Given the description of an element on the screen output the (x, y) to click on. 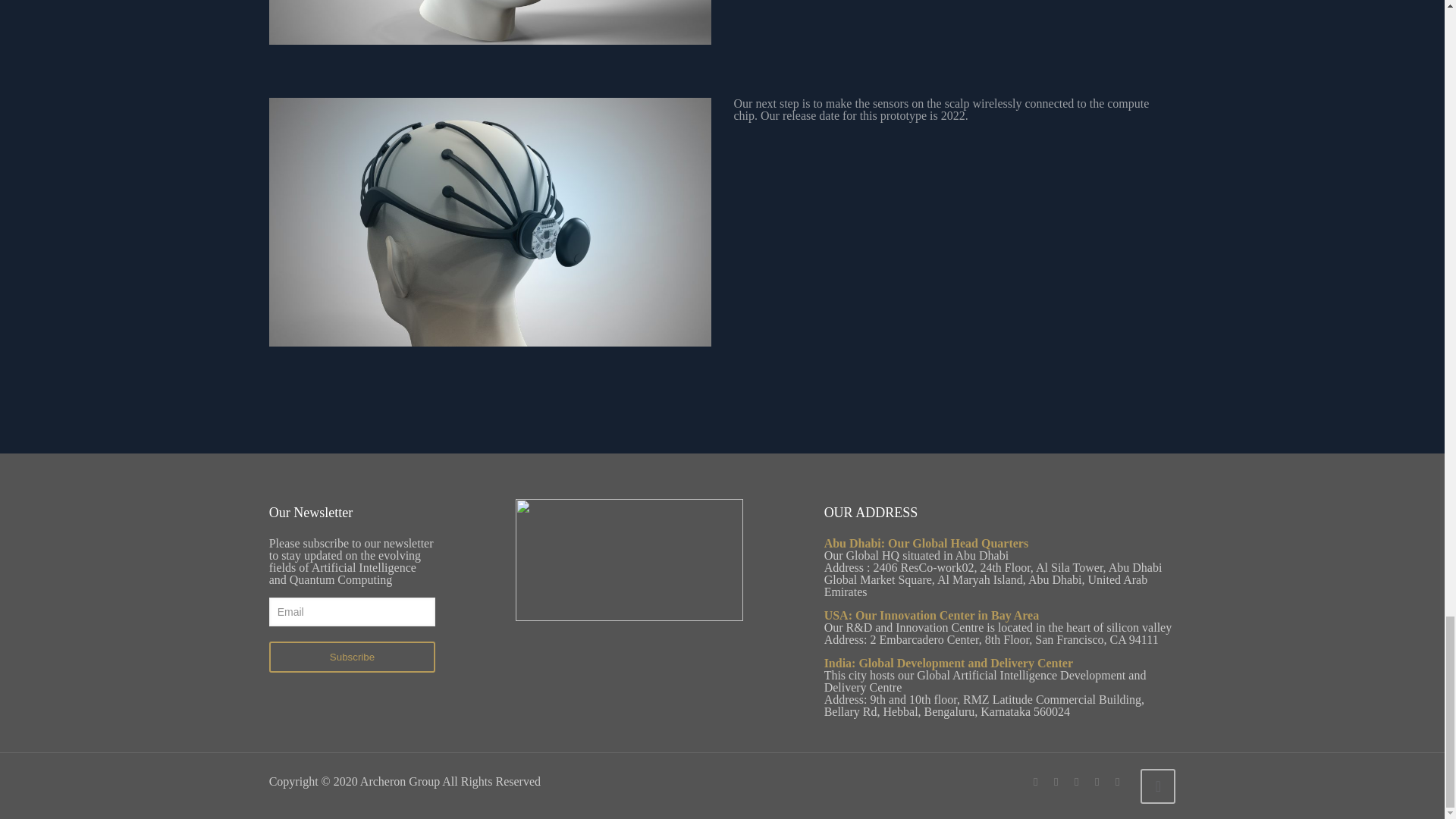
Facebook (1035, 781)
LinkedIn (1097, 781)
Subscribe (352, 656)
YouTube (1076, 781)
Instagram (1117, 781)
Twitter (1056, 781)
